Given the description of an element on the screen output the (x, y) to click on. 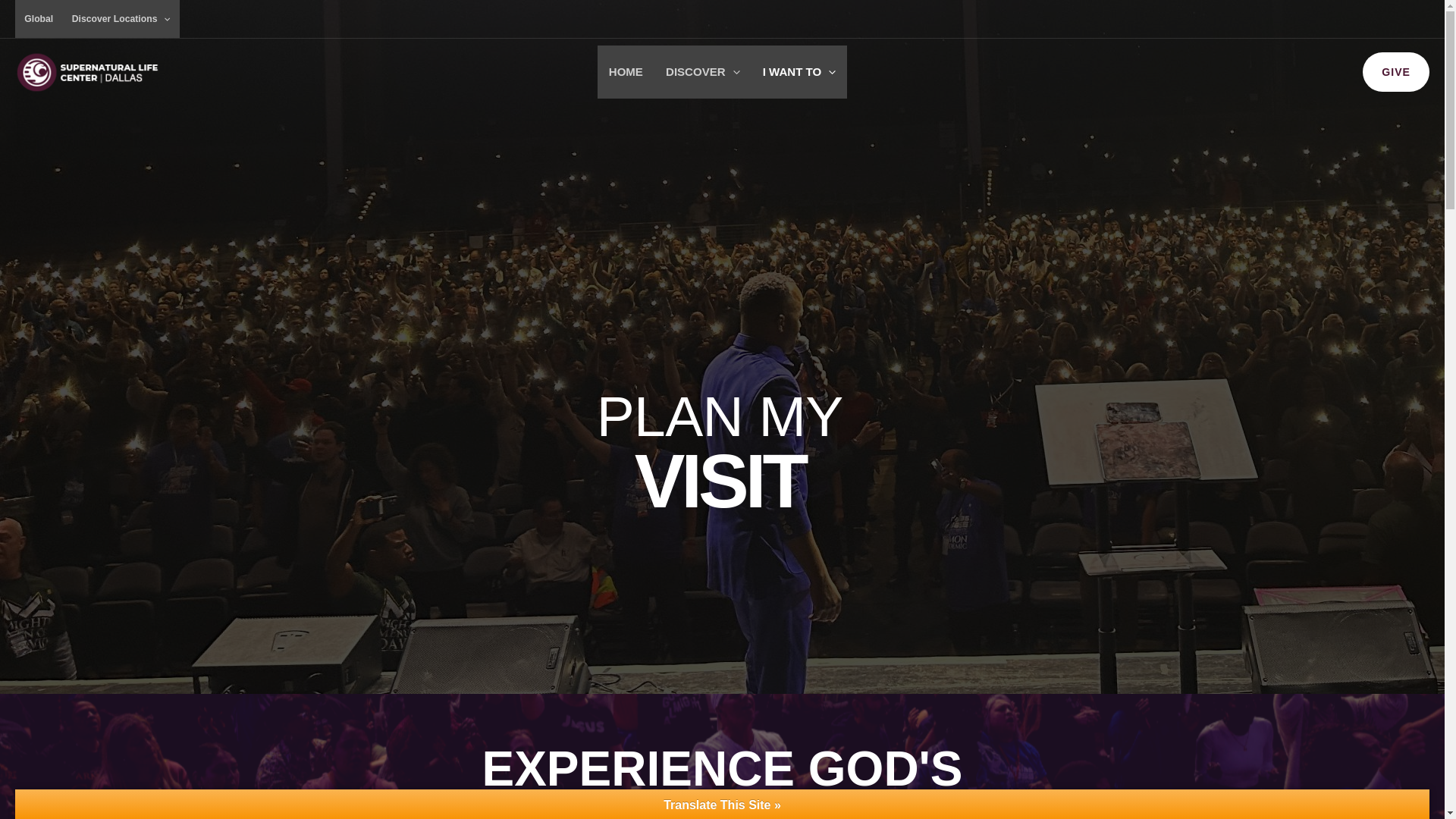
Discover Locations (120, 18)
Global (38, 18)
DISCOVER (702, 71)
HOME (624, 71)
I WANT TO (799, 71)
GIVE (1395, 71)
